Given the description of an element on the screen output the (x, y) to click on. 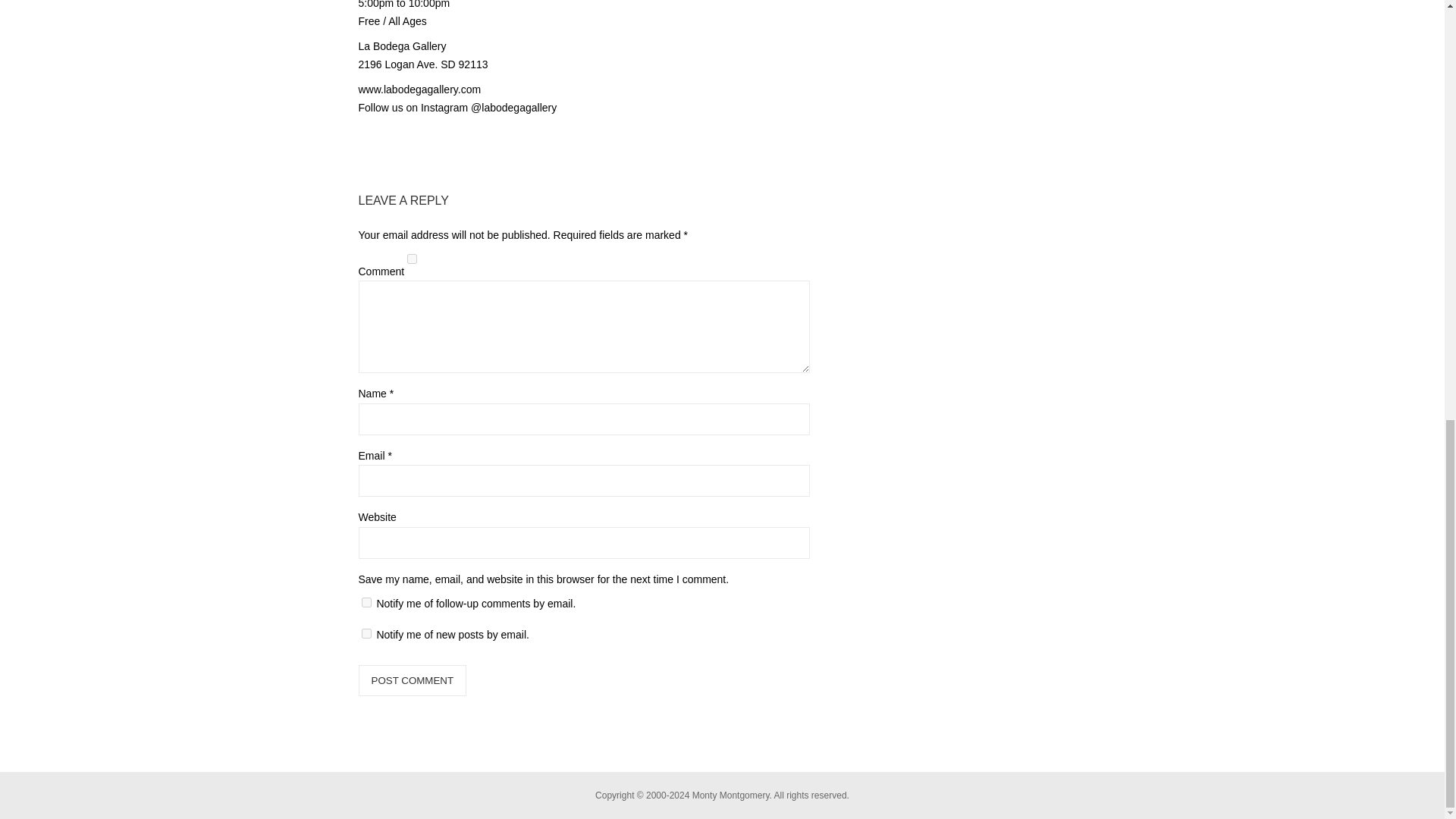
subscribe (366, 602)
Post Comment (411, 680)
yes (411, 258)
subscribe (366, 633)
